Given the description of an element on the screen output the (x, y) to click on. 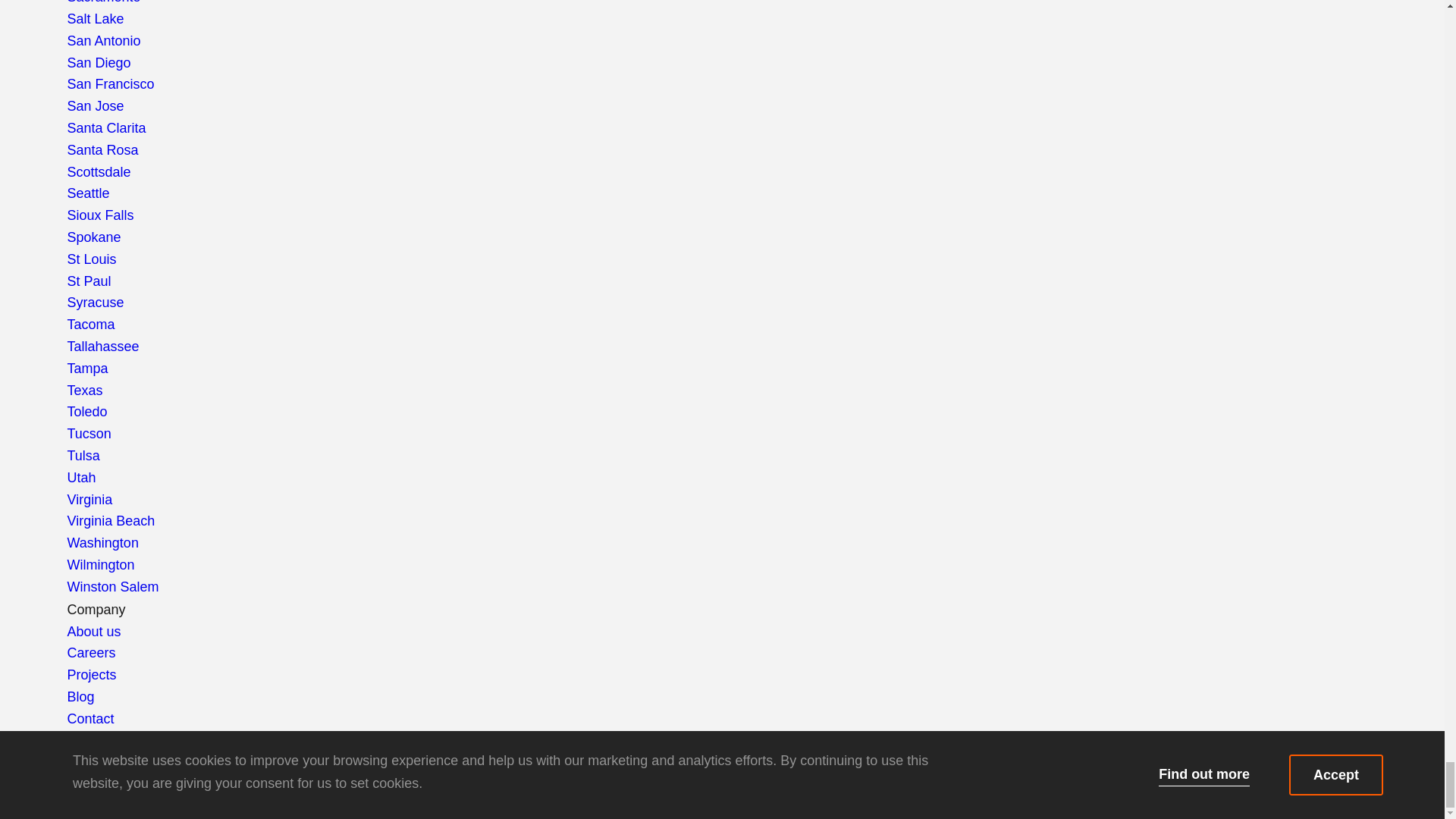
DMCA.com Protection Status (161, 807)
